Given the description of an element on the screen output the (x, y) to click on. 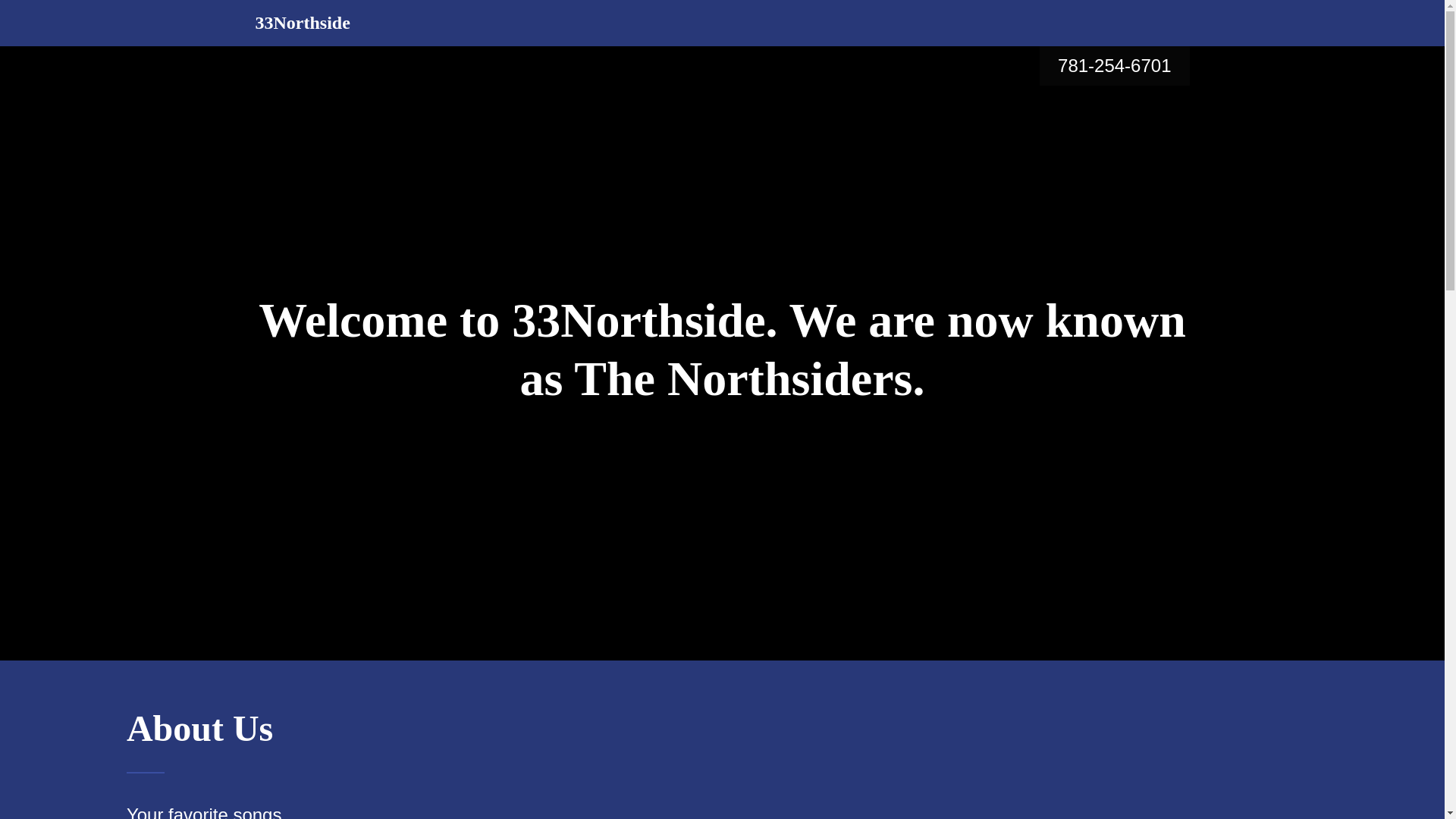
781-254-6701 Element type: text (1113, 65)
33Northside Element type: text (301, 23)
